Given the description of an element on the screen output the (x, y) to click on. 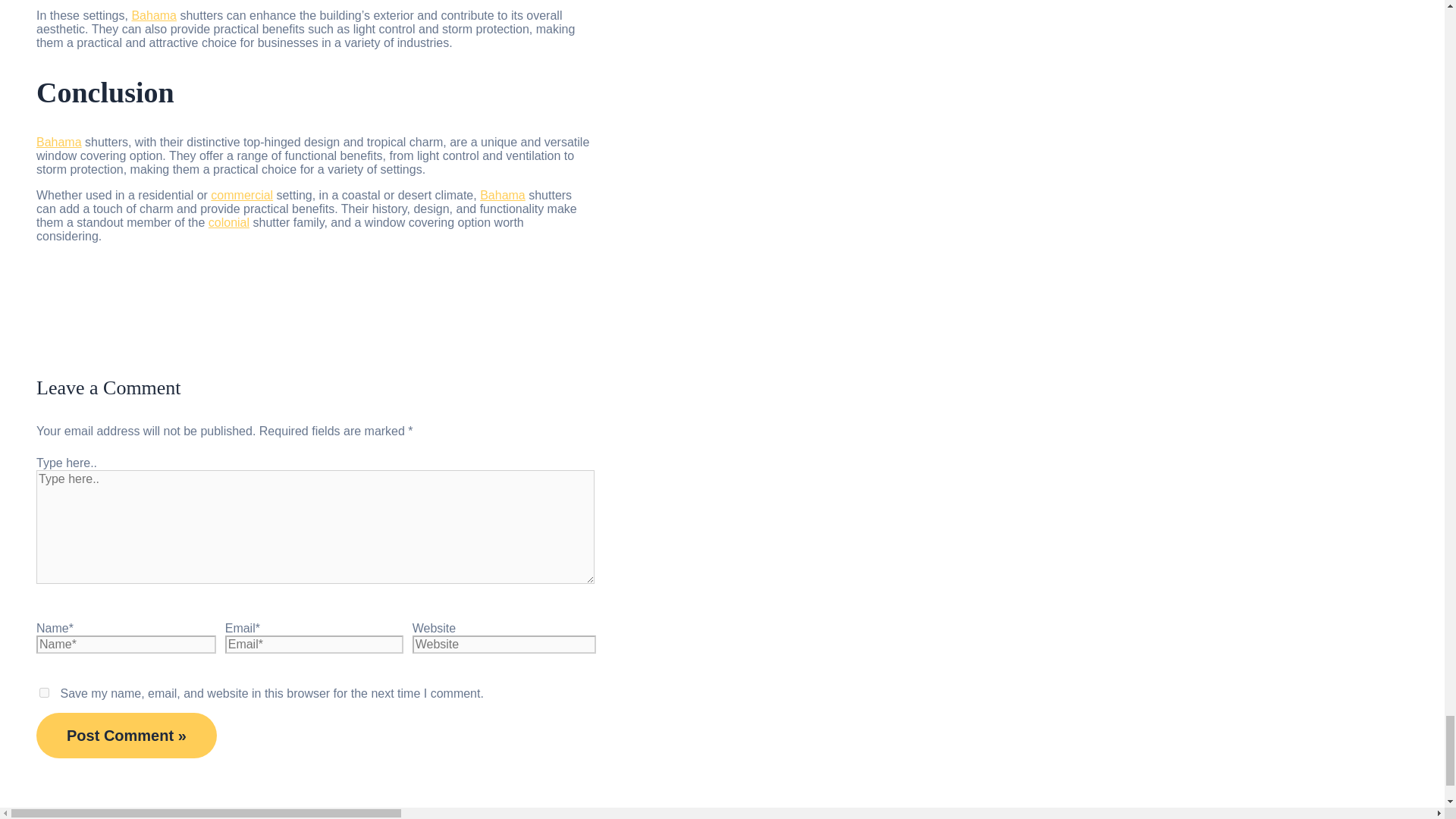
yes (44, 692)
